Given the description of an element on the screen output the (x, y) to click on. 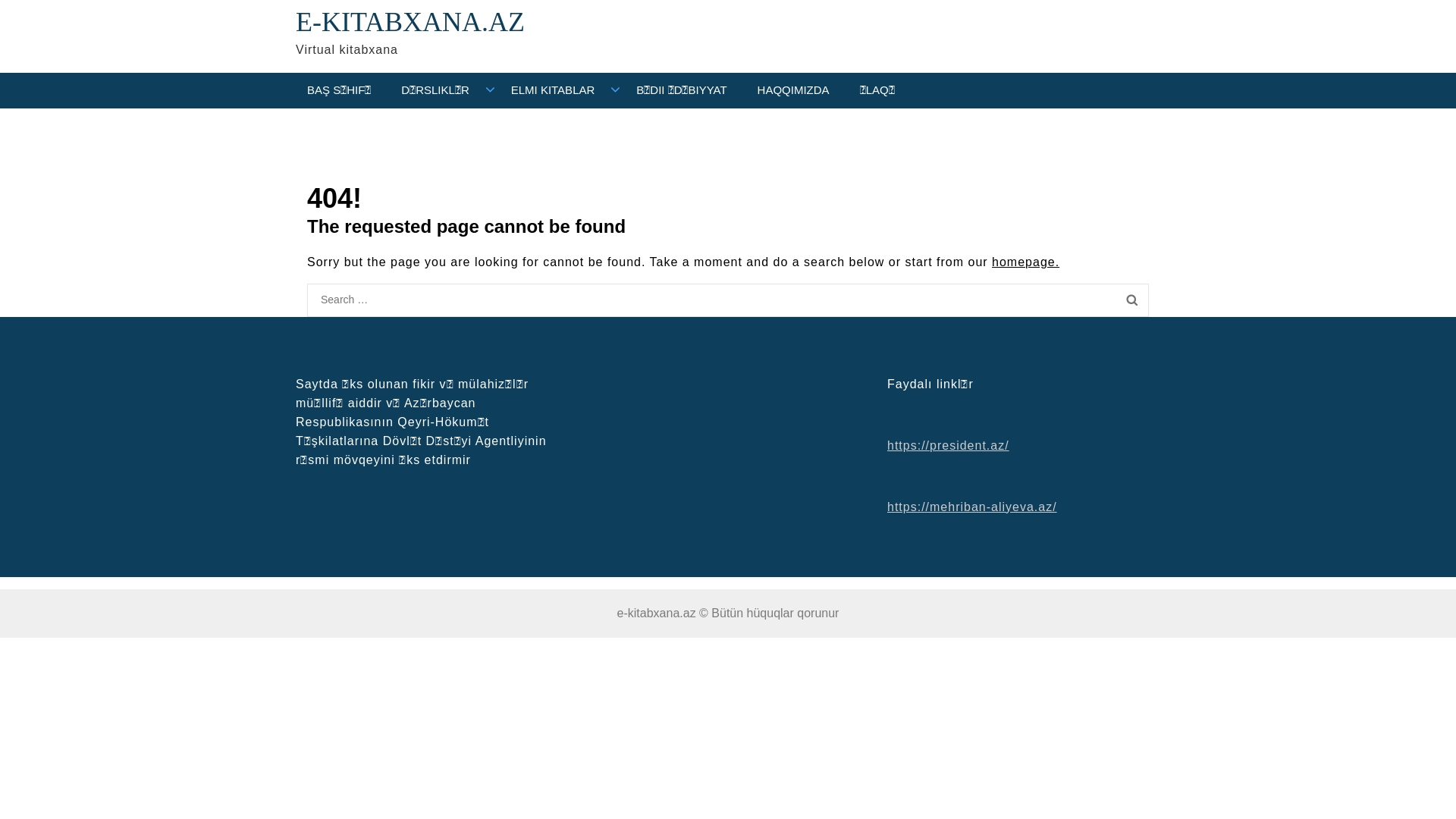
HAQQIMIZDA Element type: text (793, 90)
https://mehriban-aliyeva.az/ Element type: text (972, 506)
Search Element type: text (1131, 299)
homepage. Element type: text (1025, 260)
ELMI KITABLAR Element type: text (552, 90)
E-KITABXANA.AZ Element type: text (409, 21)
https://president.az/ Element type: text (948, 444)
